Given the description of an element on the screen output the (x, y) to click on. 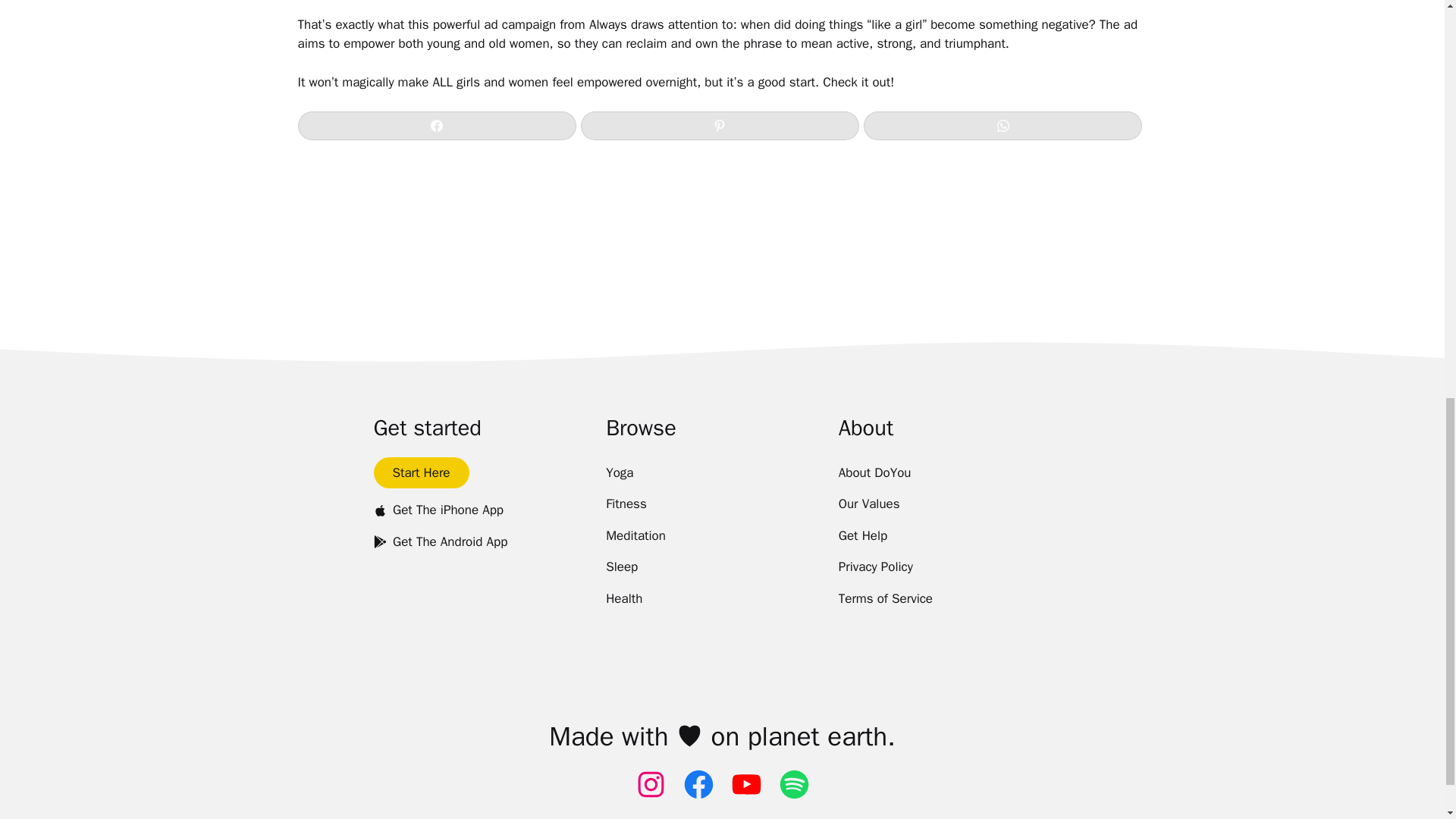
Get Help (863, 536)
Meditation (635, 536)
About DoYou (874, 472)
Fitness (625, 504)
Privacy Policy (875, 567)
Terms of Service (885, 599)
Our Values (868, 504)
Start Here (420, 472)
Health (623, 599)
Get The Android App (439, 541)
